Given the description of an element on the screen output the (x, y) to click on. 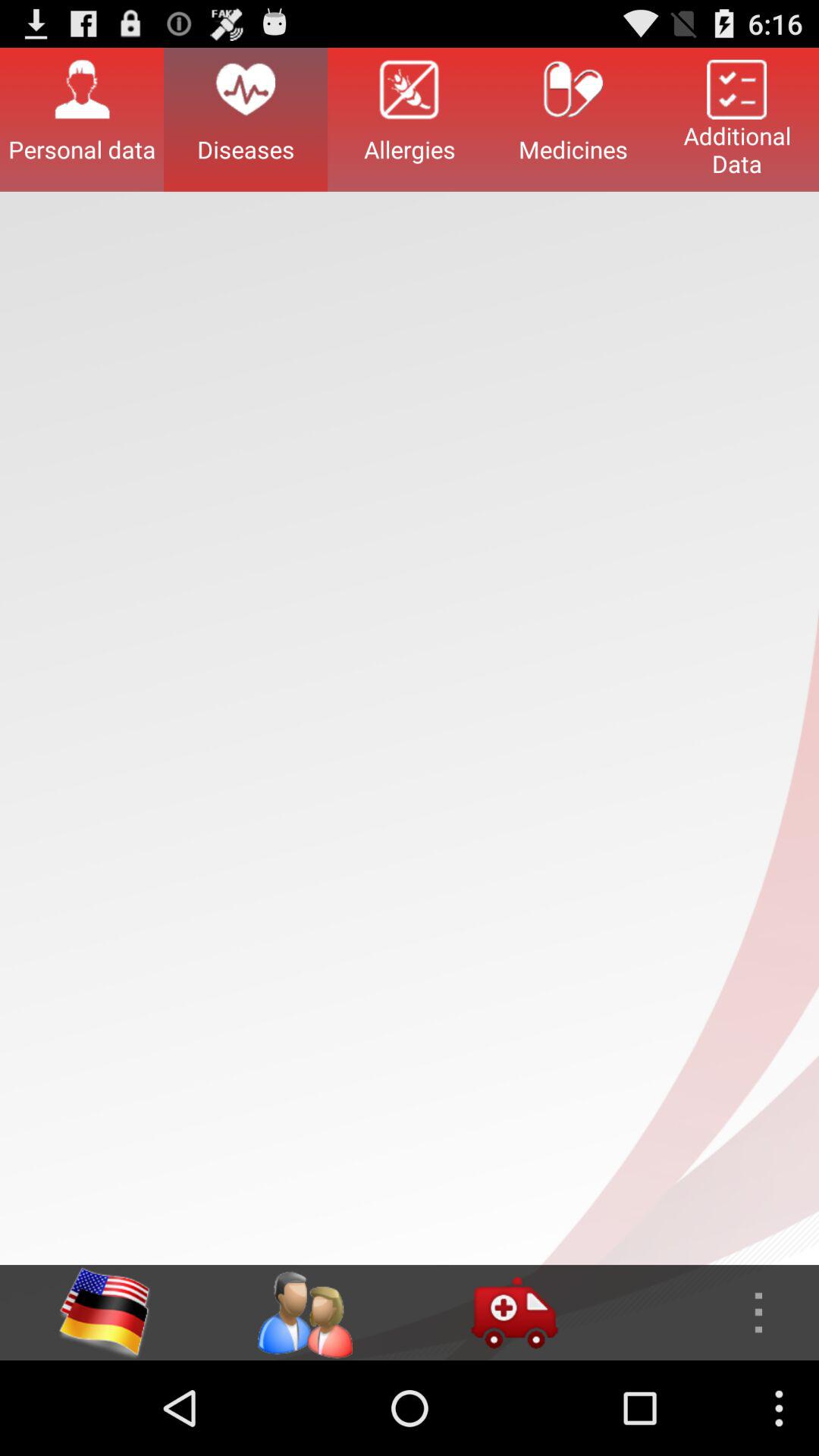
swipe until medicines button (573, 119)
